Given the description of an element on the screen output the (x, y) to click on. 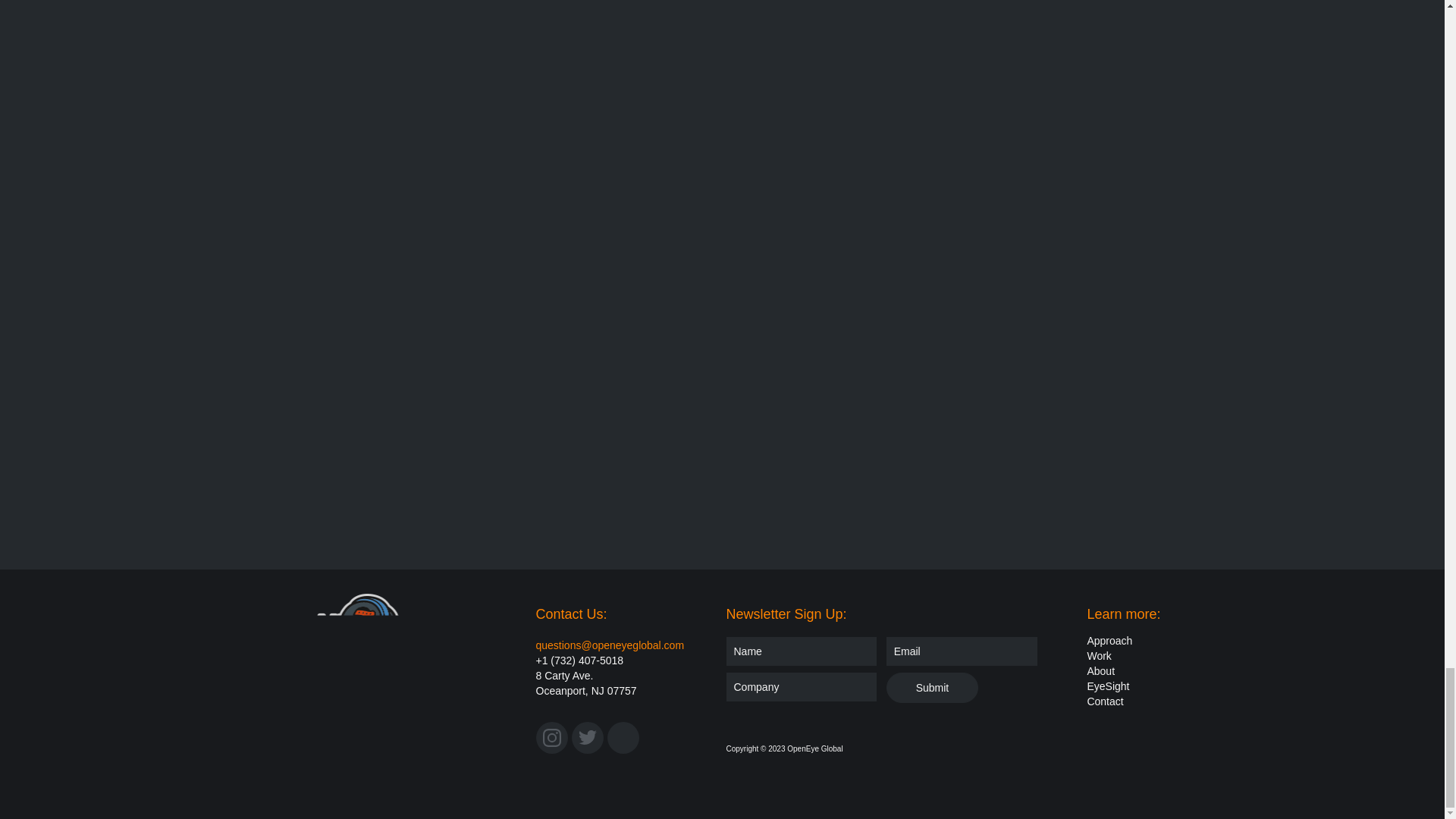
About (1100, 670)
Submit (932, 687)
Approach (1109, 640)
Work (1098, 655)
Contact (1104, 701)
Submit (932, 687)
EyeSight (1107, 685)
